Given the description of an element on the screen output the (x, y) to click on. 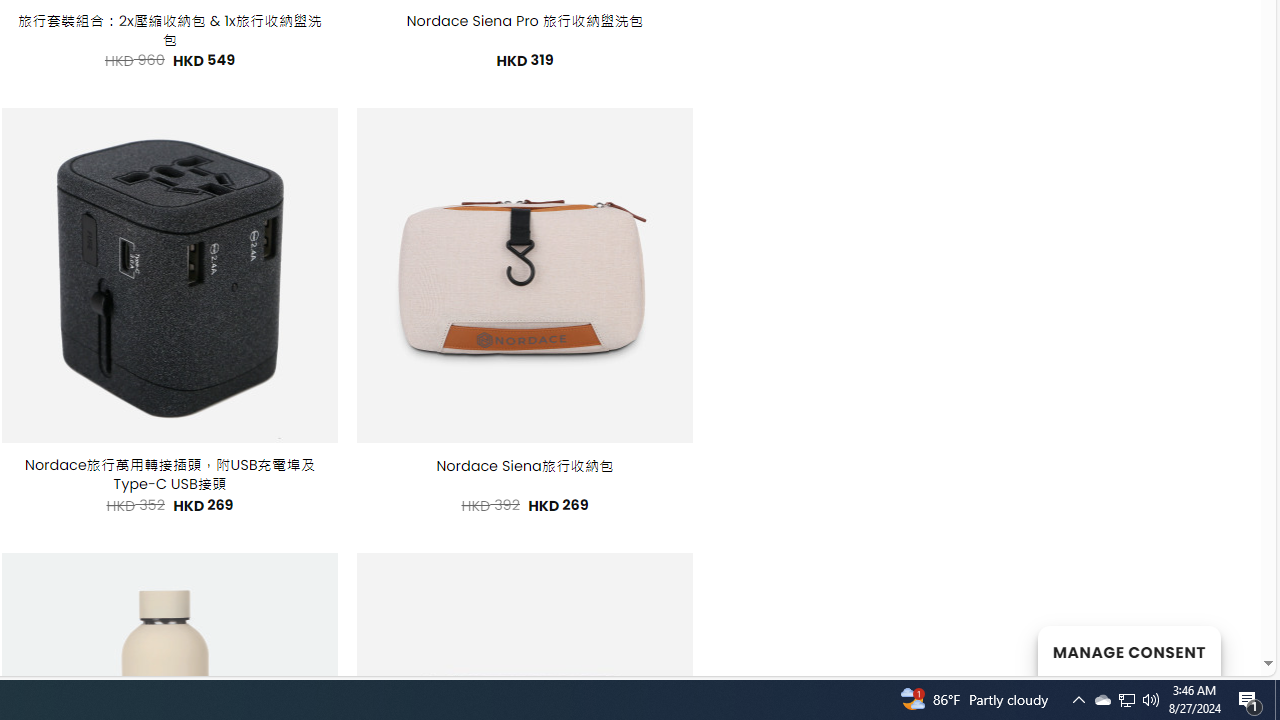
MANAGE CONSENT (1128, 650)
